Given the description of an element on the screen output the (x, y) to click on. 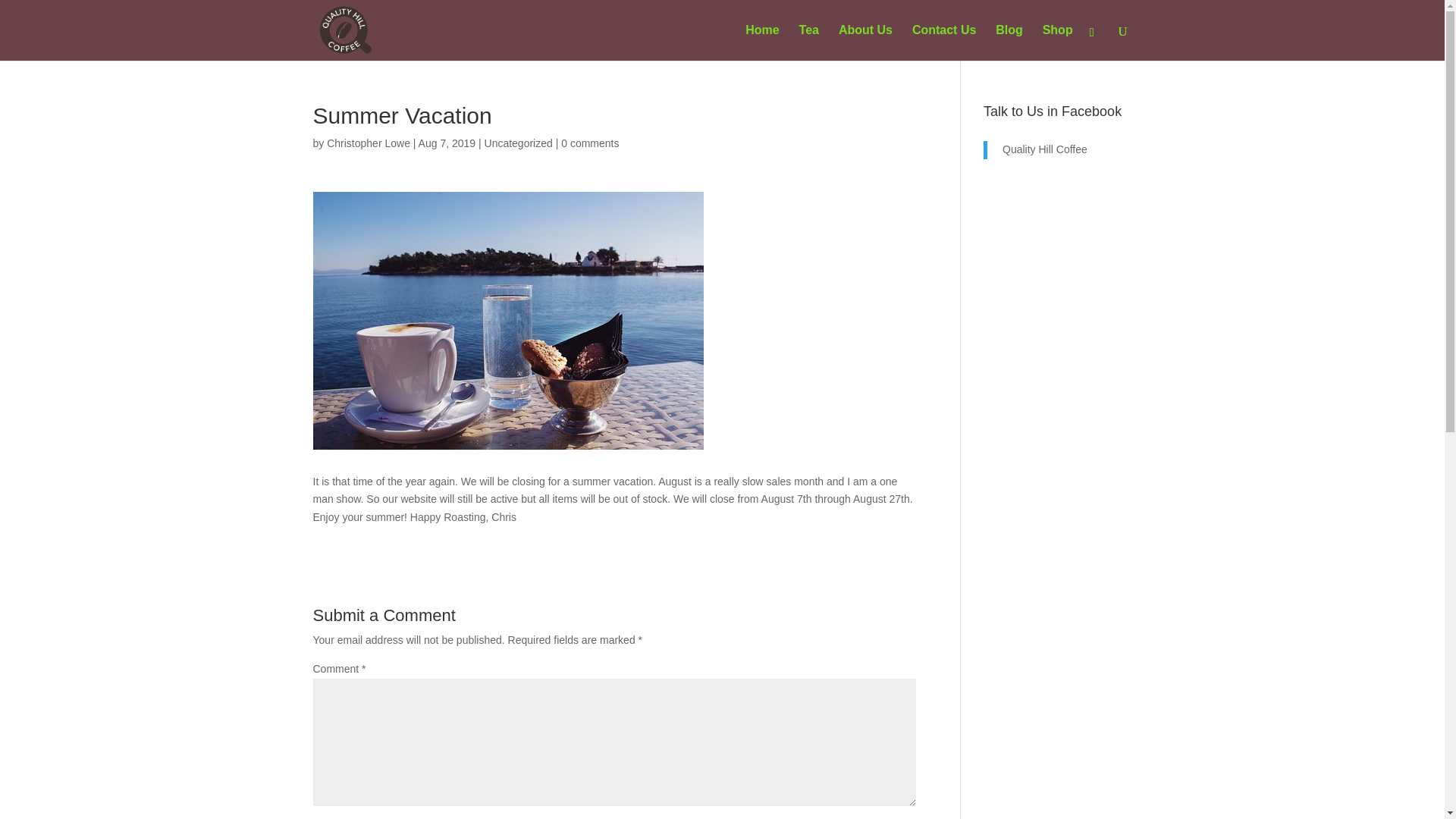
Posts by Christopher Lowe (368, 143)
About Us (865, 42)
Christopher Lowe (368, 143)
Contact Us (943, 42)
0 comments (589, 143)
Uncategorized (518, 143)
Quality Hill Coffee (1045, 149)
Home (761, 42)
